Given the description of an element on the screen output the (x, y) to click on. 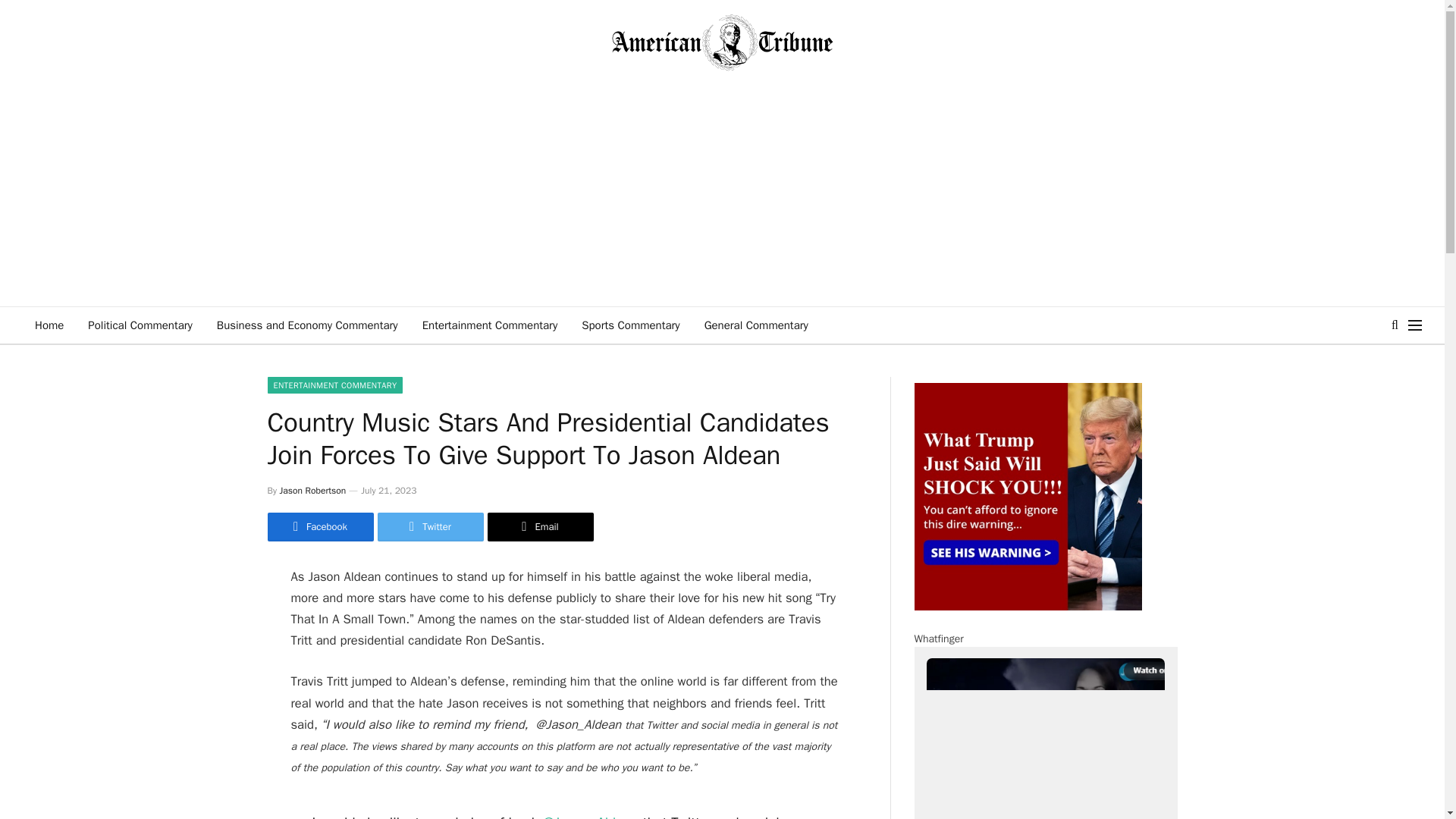
Home (49, 325)
Political Commentary (140, 325)
ENTERTAINMENT COMMENTARY (334, 384)
Email (539, 526)
Business and Economy Commentary (307, 325)
Share on Facebook (319, 526)
Posts by Jason Robertson (312, 490)
Facebook (319, 526)
Share via Email (539, 526)
General Commentary (757, 325)
Jason Robertson (312, 490)
Twitter (430, 526)
Sports Commentary (630, 325)
Entertainment Commentary (490, 325)
